Given the description of an element on the screen output the (x, y) to click on. 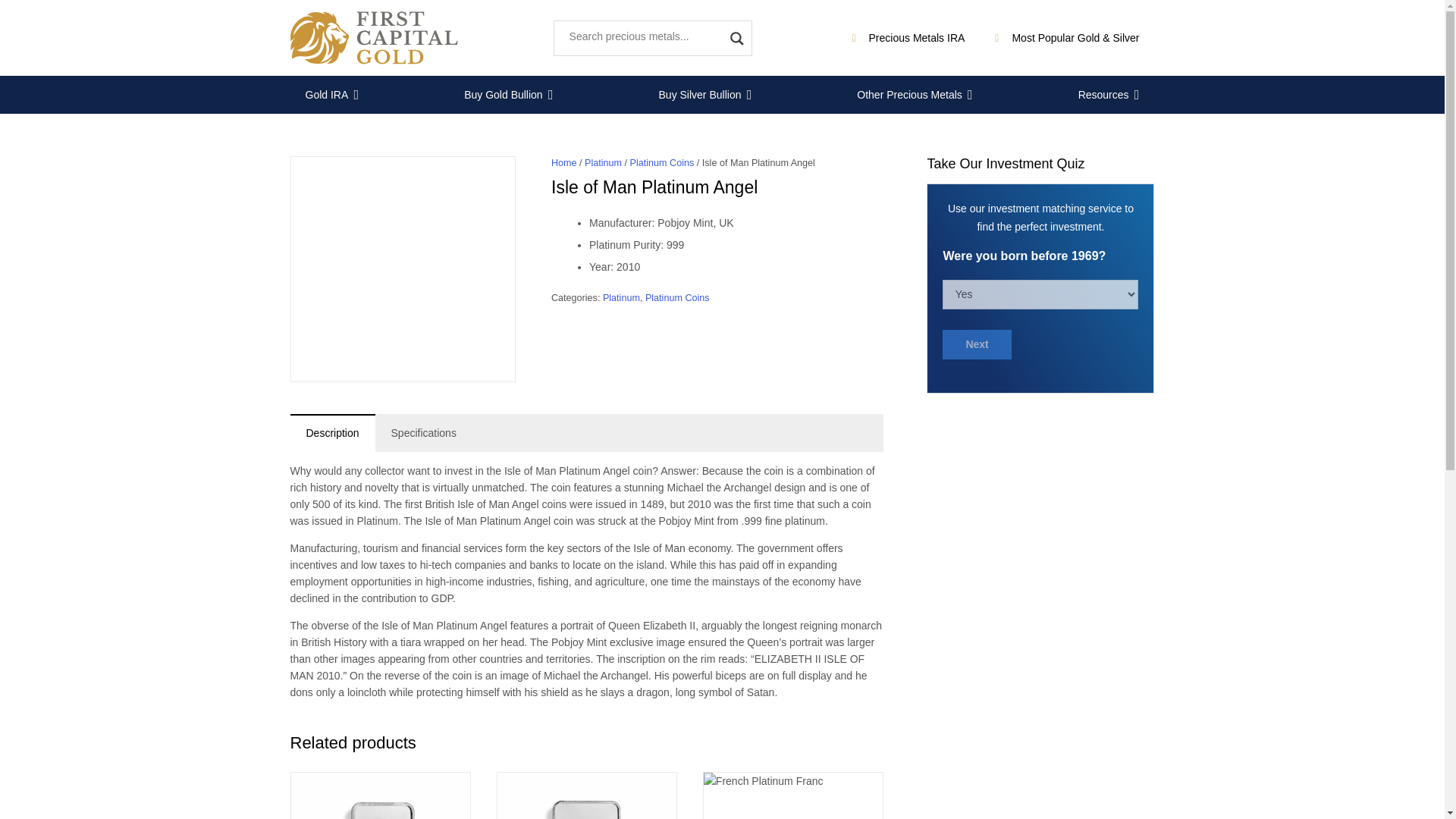
Next (976, 344)
Gold IRA (331, 94)
Precious Metals IRA (907, 38)
Buy Gold Bullion (507, 94)
